Given the description of an element on the screen output the (x, y) to click on. 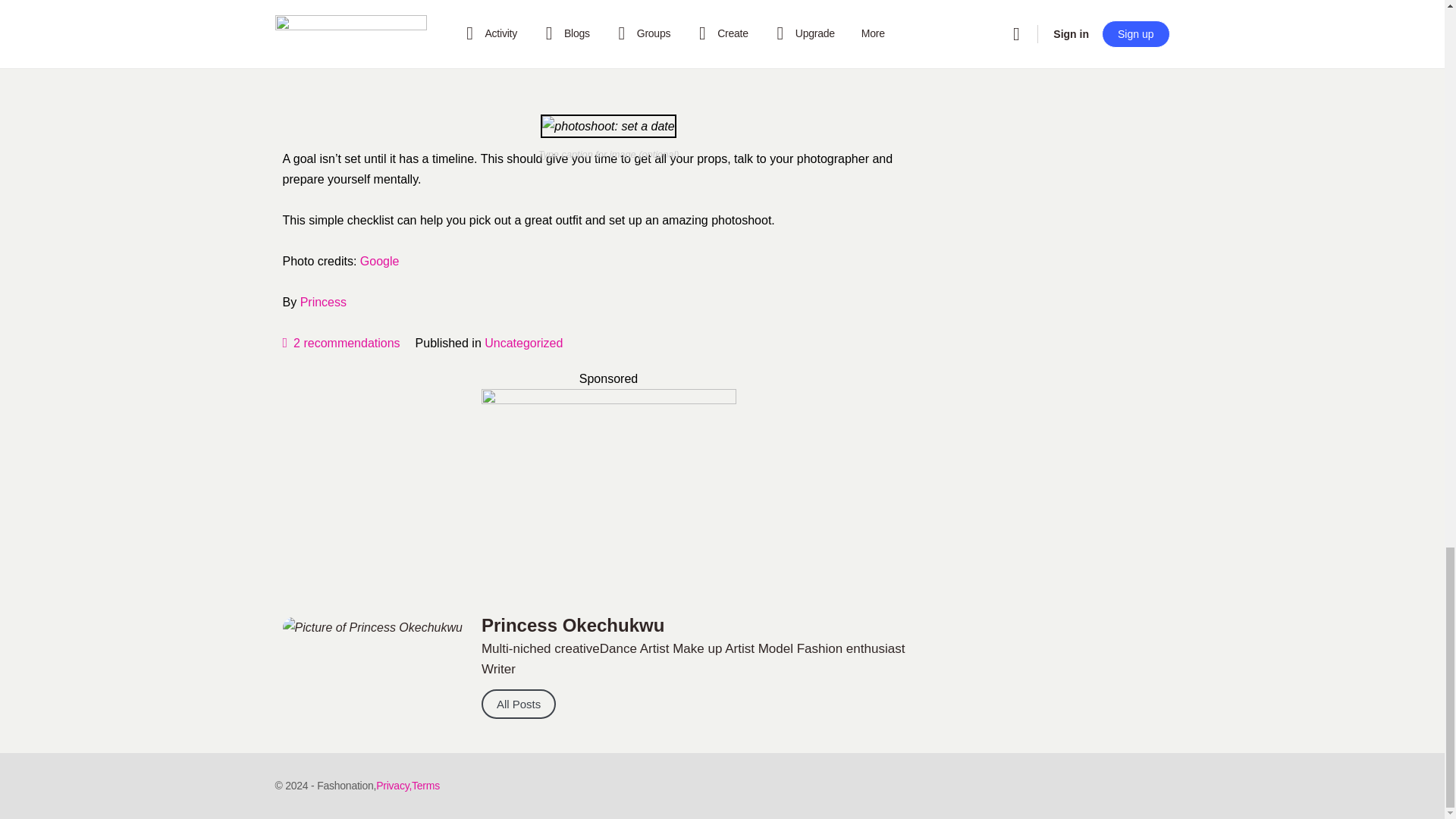
Recommend this article (340, 342)
